Given the description of an element on the screen output the (x, y) to click on. 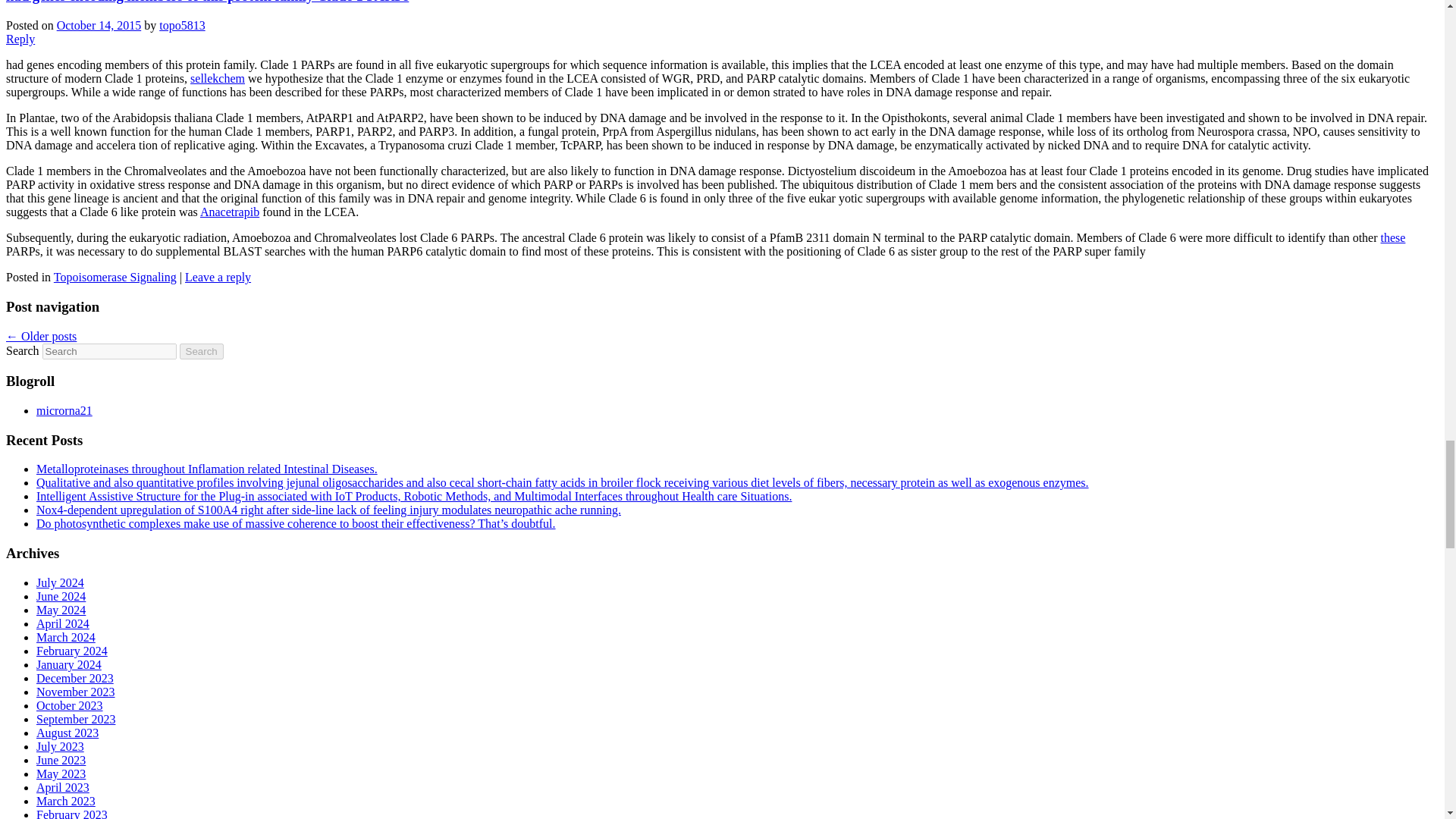
Search (201, 351)
